Given the description of an element on the screen output the (x, y) to click on. 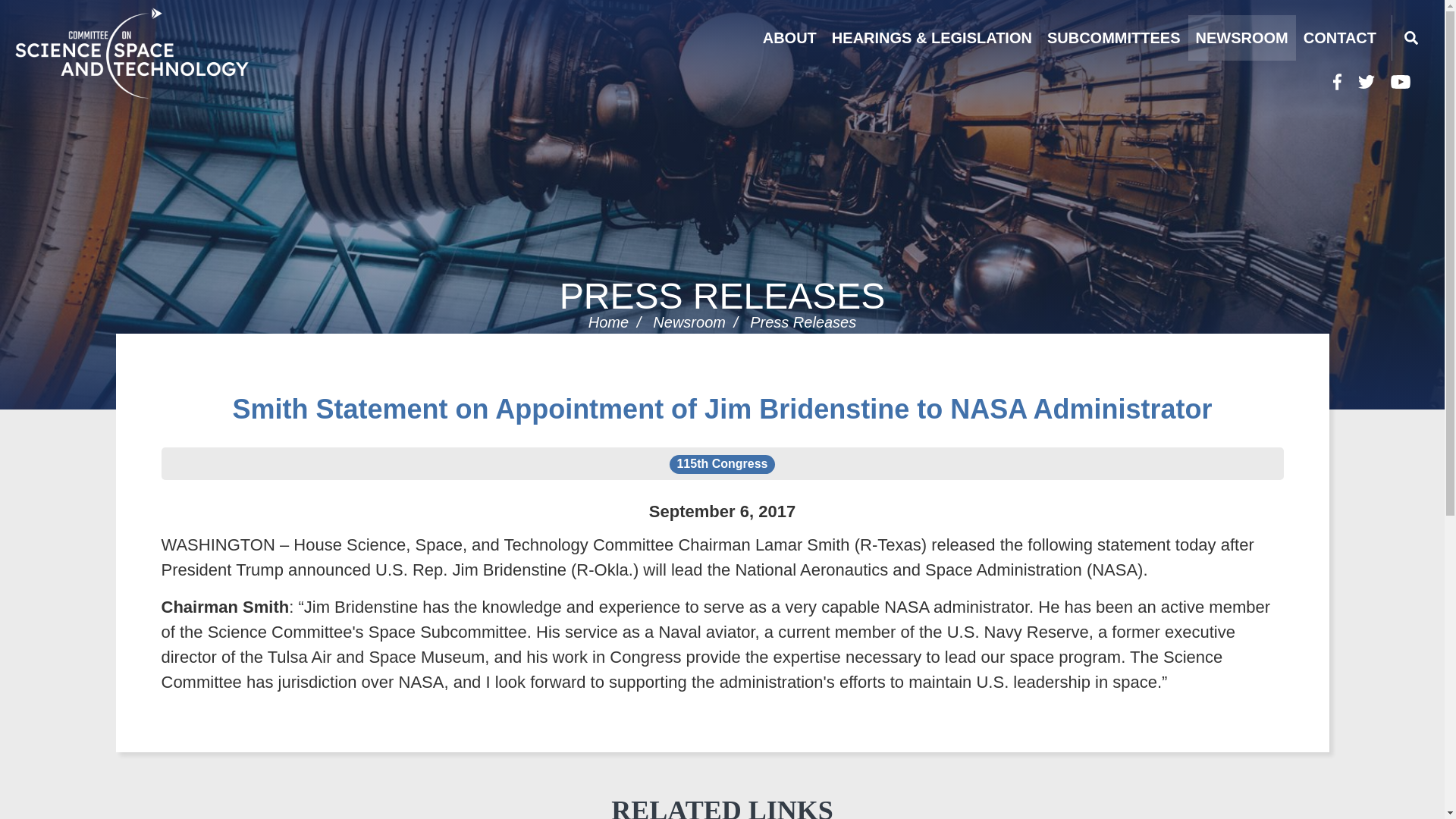
SUBCOMMITTEES (1113, 37)
ABOUT (789, 37)
NEWSROOM (1241, 37)
Home (170, 52)
CONTACT (1339, 37)
